Given the description of an element on the screen output the (x, y) to click on. 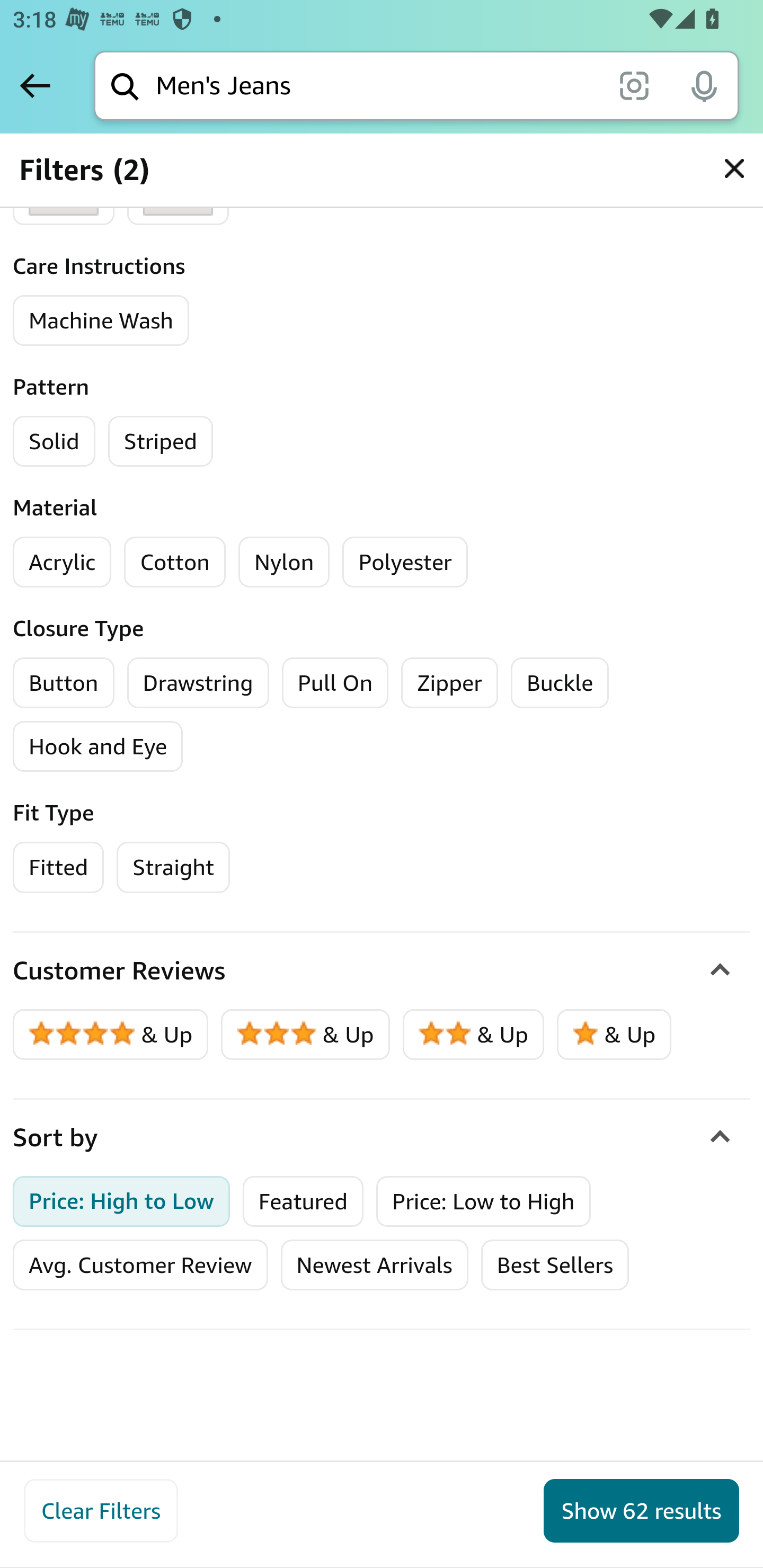
Back (35, 85)
scan it (633, 85)
Machine Wash (101, 320)
Solid (53, 441)
Striped (160, 441)
Acrylic (62, 562)
Cotton (174, 562)
Nylon (283, 562)
Polyester (405, 562)
Button (63, 682)
Drawstring (197, 682)
Pull On (335, 682)
Zipper (449, 682)
Buckle (560, 682)
Hook and Eye (98, 746)
Fitted (58, 866)
Straight (172, 866)
Customer Reviews (381, 970)
4 Stars & Up (110, 1033)
3 Stars & Up (305, 1033)
2 Stars & Up (473, 1033)
1 Star & Up (614, 1033)
Sort by (381, 1136)
Featured (302, 1200)
Price: Low to High (483, 1200)
Avg. Customer Review (140, 1265)
Newest Arrivals (374, 1265)
Best Sellers (554, 1265)
Clear Filters (100, 1510)
Show 62 results (641, 1510)
